Given the description of an element on the screen output the (x, y) to click on. 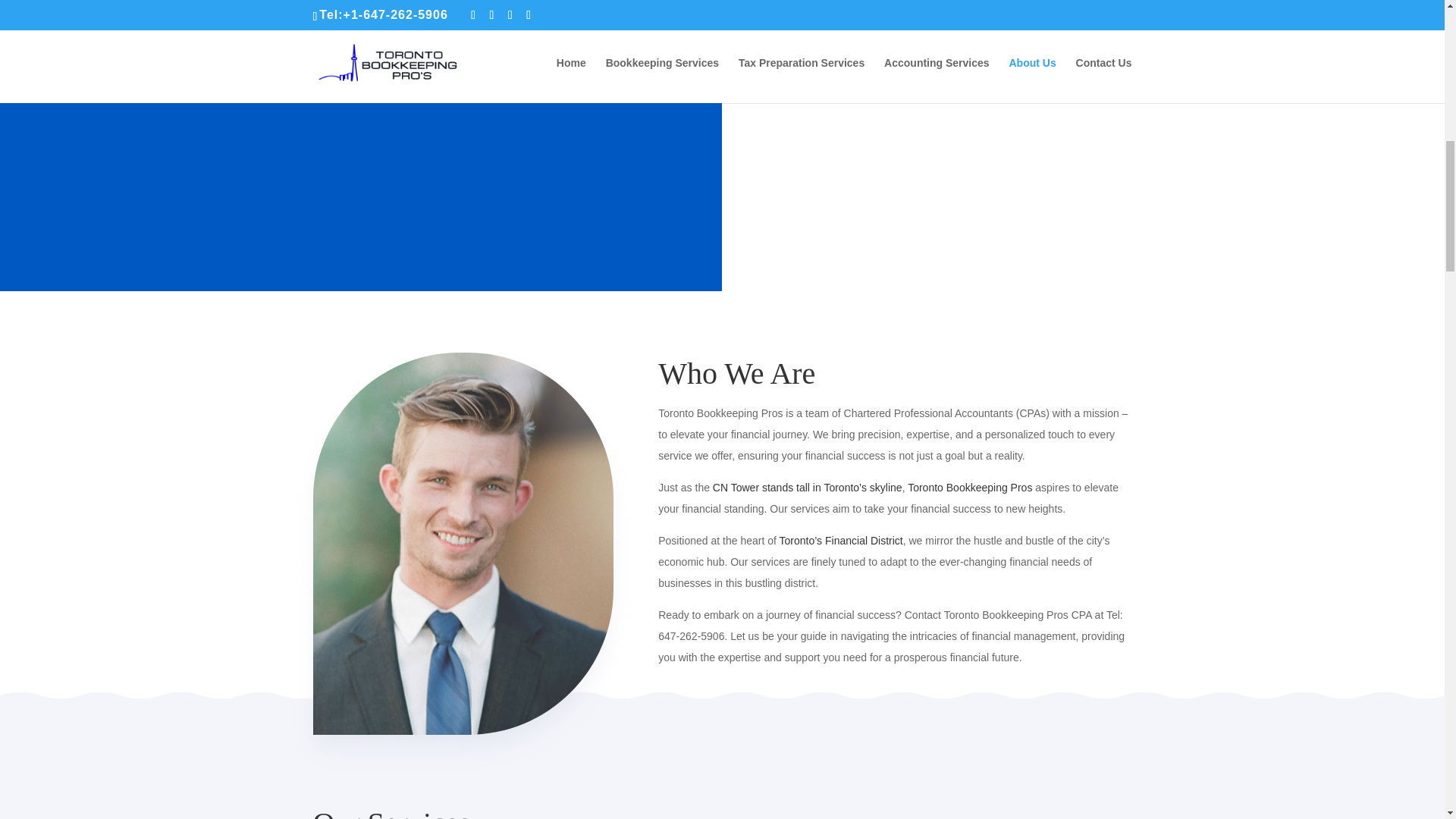
Toronto Bookkeeping Pros - CN Tower in Toronto (807, 487)
Toronto Bookkeeping Pros - Toronto Financial District (840, 540)
Toronto Bookkeeping Pros (969, 487)
